Given the description of an element on the screen output the (x, y) to click on. 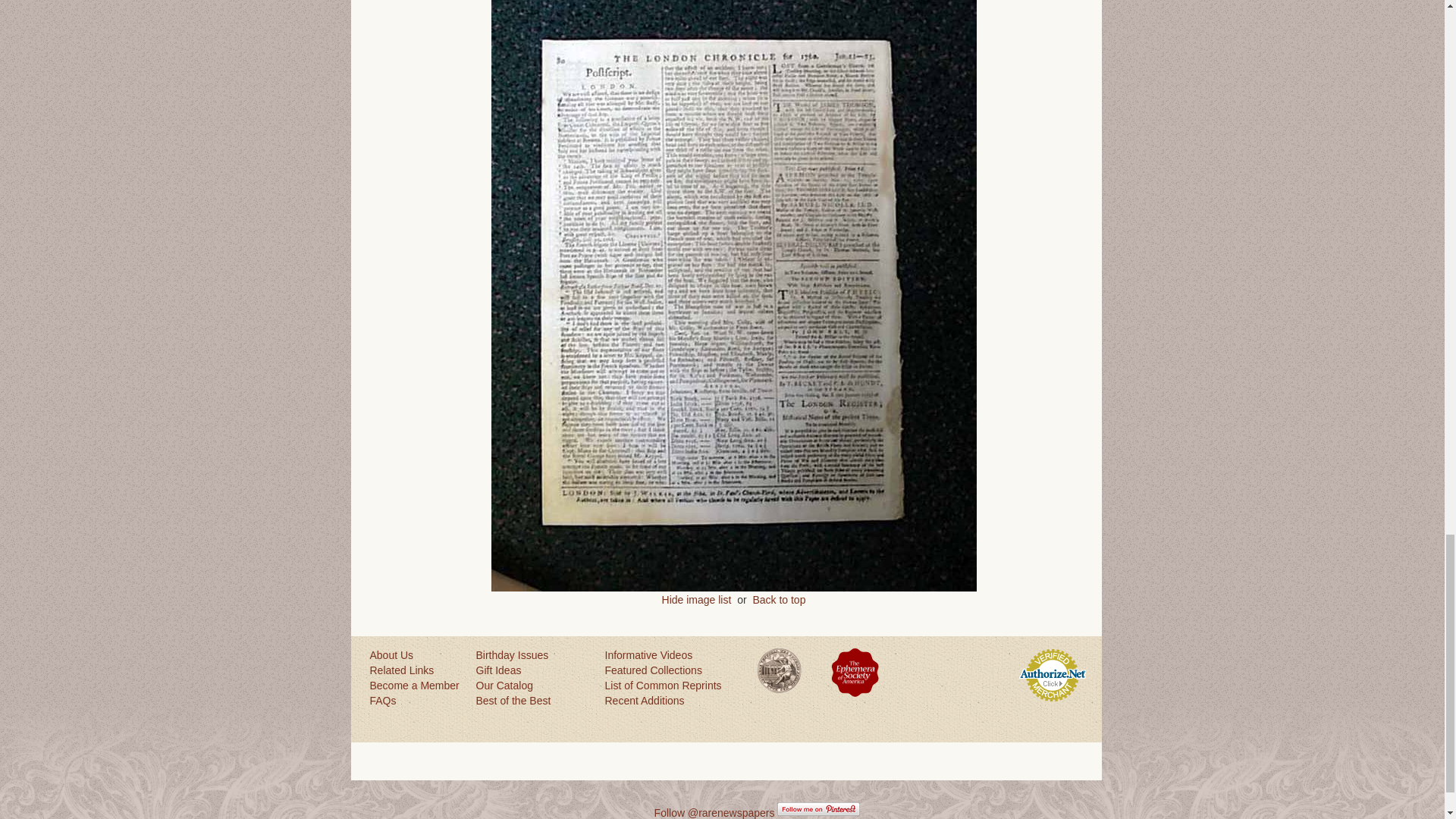
FAQs (415, 700)
Recent Additions (669, 700)
Member, Antiquarian Society of America (779, 669)
List of Common Reprints (669, 685)
Gift Ideas (532, 670)
About Us (415, 654)
About Us (415, 654)
Member, Ephemera Society of America (855, 671)
FAQs (415, 700)
Featured Collections (669, 670)
Related Links (415, 670)
Become a Member (415, 685)
Related Links (415, 670)
Informative Videos (669, 654)
Back to top (778, 599)
